Given the description of an element on the screen output the (x, y) to click on. 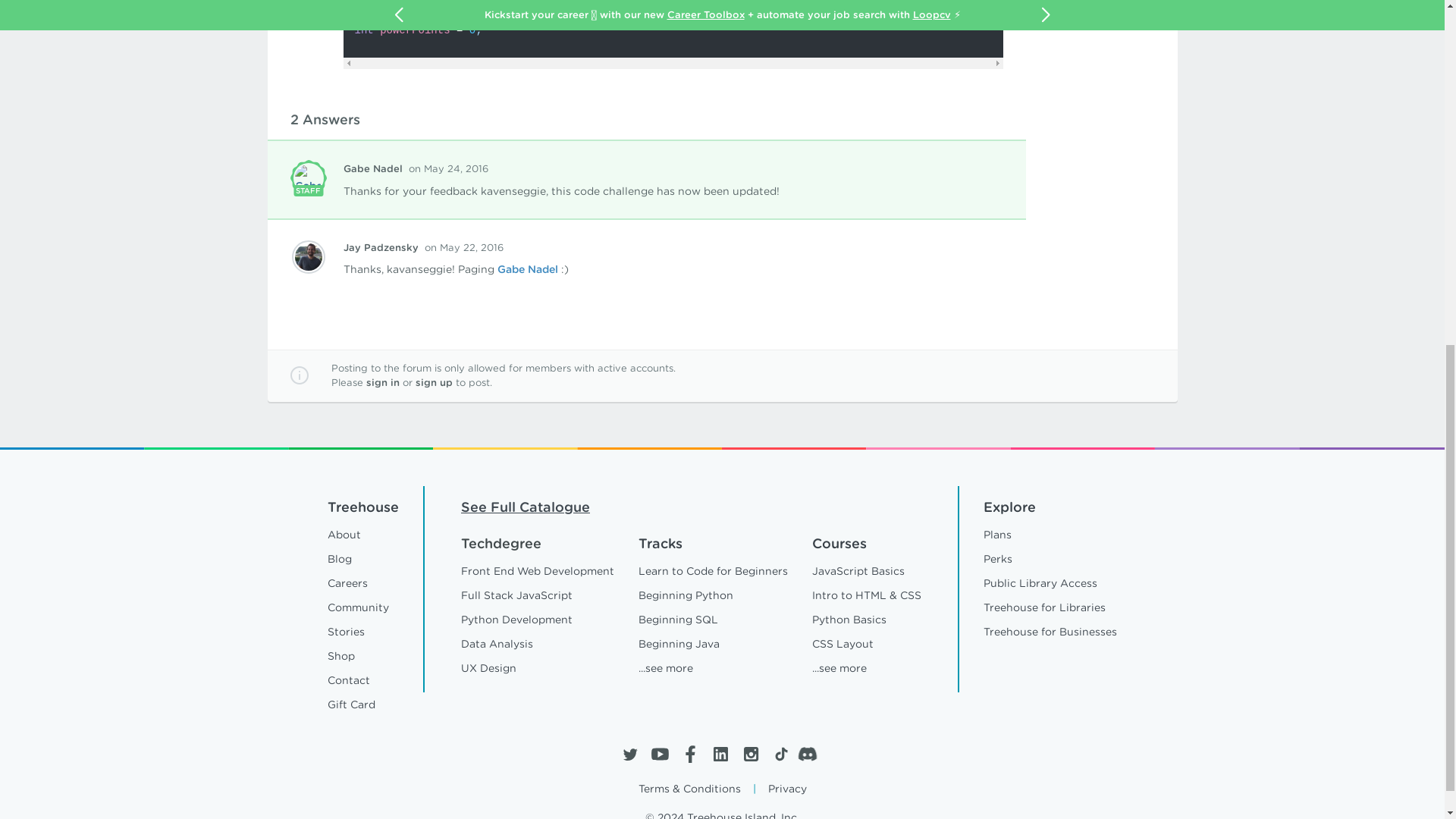
Twitter (628, 754)
May 22, 2016 at 1:44am CST (464, 247)
Facebook (690, 754)
May 24, 2016 at 12:29am CST (447, 168)
seal-mask (307, 177)
YouTube (659, 754)
LinkedIn (719, 754)
Facebook (690, 754)
Twitter (628, 754)
Instagram (749, 754)
Instagram (749, 754)
LinkedIn (719, 754)
YouTube (659, 754)
Discord (810, 754)
TikTok (780, 754)
